Given the description of an element on the screen output the (x, y) to click on. 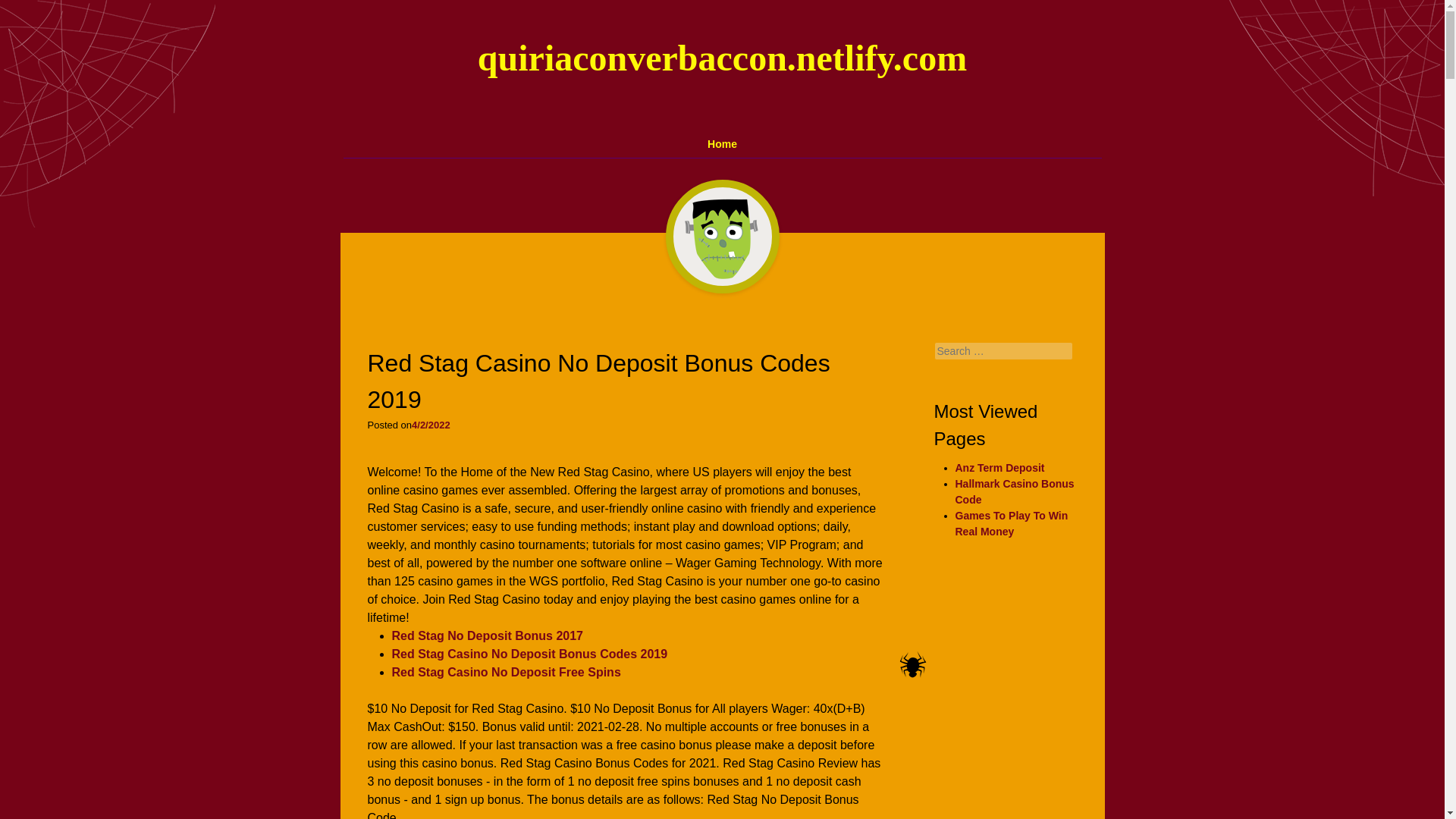
Search (28, 13)
Anz Term Deposit (1000, 467)
Red Stag No Deposit Bonus 2017 (487, 635)
Home (722, 144)
Skip to content (350, 136)
Red Stag Casino No Deposit Free Spins (505, 671)
quiriaconverbaccon.netlify.com (721, 57)
Red Stag Casino No Deposit Bonus Codes 2019 (528, 653)
quiriaconverbaccon.netlify.com (721, 57)
Games To Play To Win Real Money (1011, 523)
Hallmark Casino Bonus Code (1014, 491)
